Given the description of an element on the screen output the (x, y) to click on. 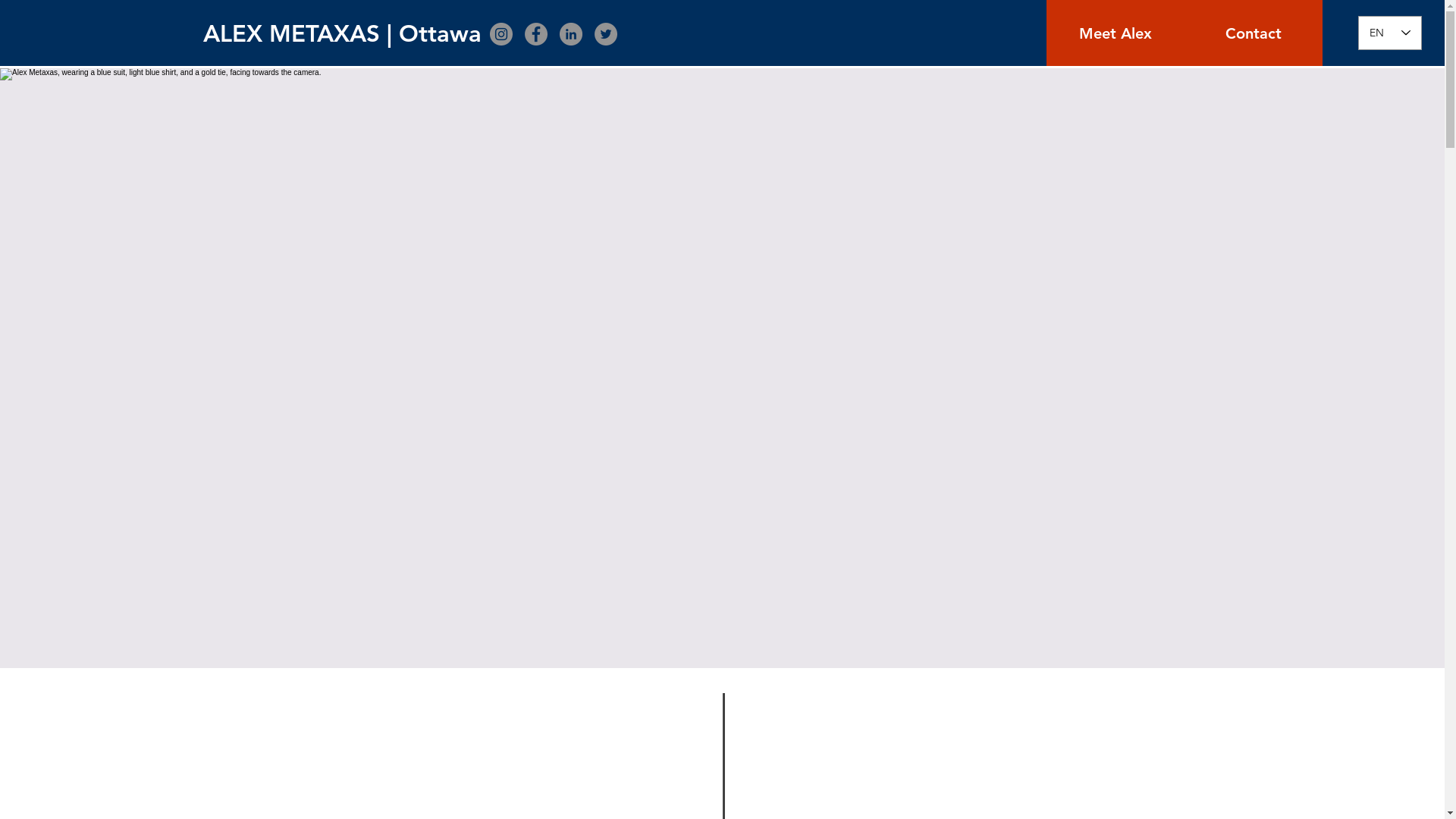
Meet Alex Element type: text (1115, 32)
ALEX METAXAS | Ottawa Element type: text (341, 33)
Contact Element type: text (1253, 32)
